Given the description of an element on the screen output the (x, y) to click on. 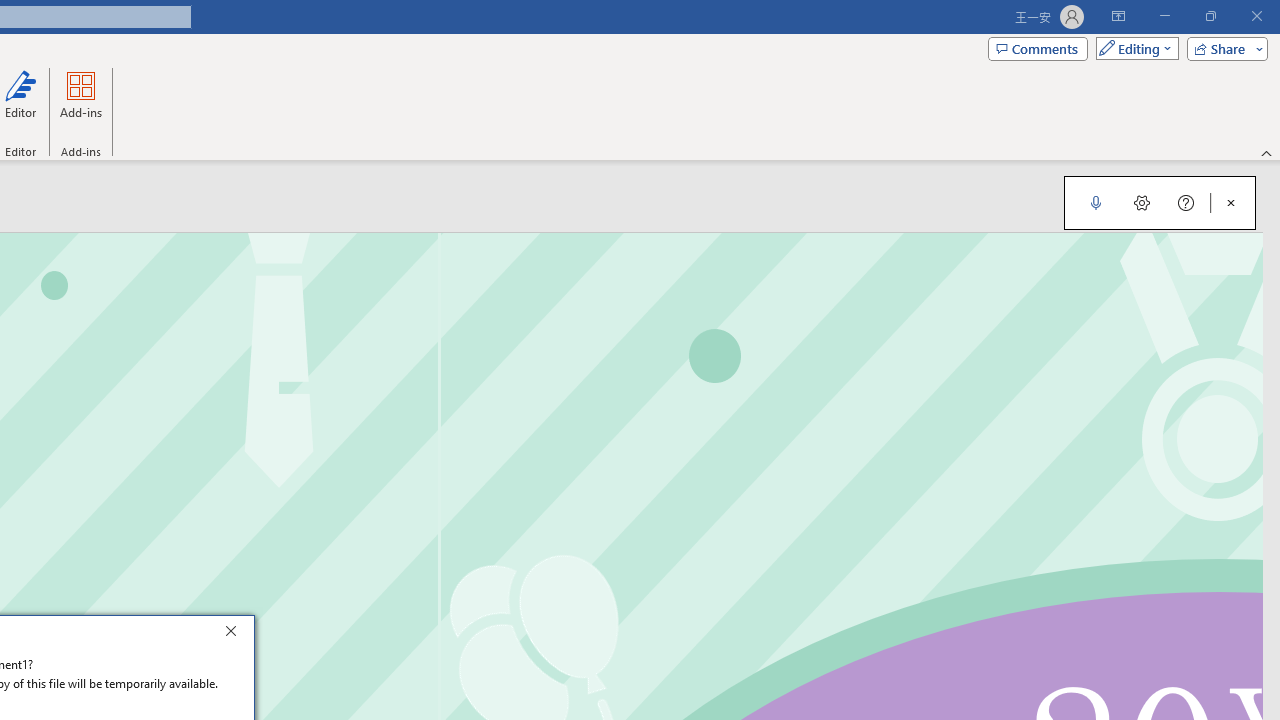
Dictation Settings (1142, 202)
Close Dictation (1231, 202)
Start Dictation (1096, 202)
